Given the description of an element on the screen output the (x, y) to click on. 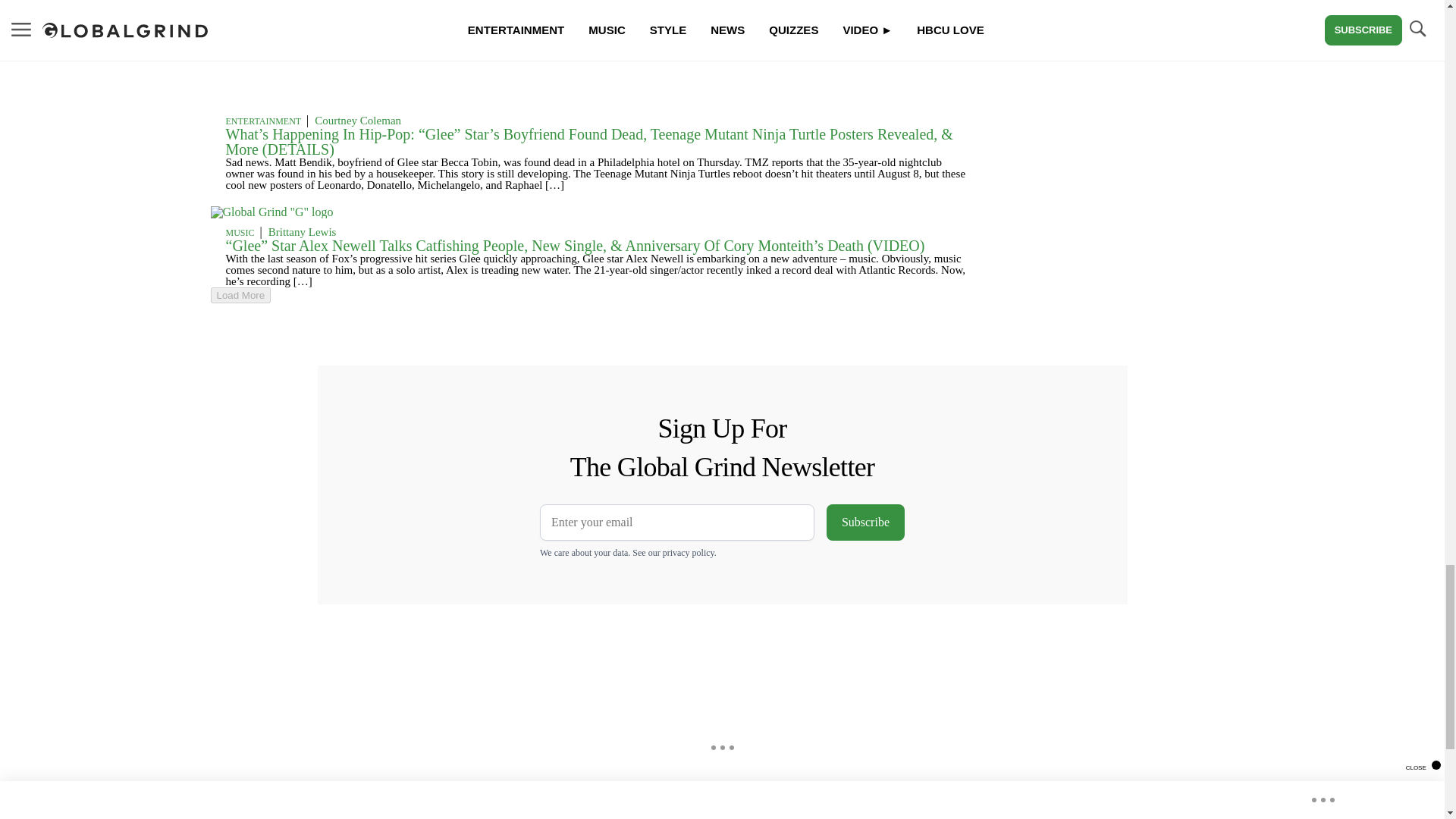
Load More (596, 295)
Load More (240, 295)
